Given the description of an element on the screen output the (x, y) to click on. 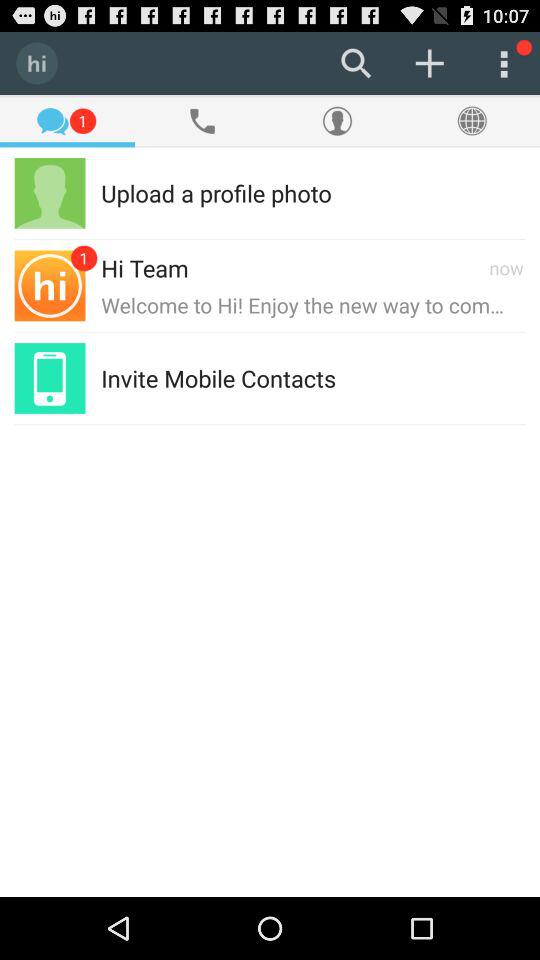
press icon next to the hi team app (337, 267)
